Given the description of an element on the screen output the (x, y) to click on. 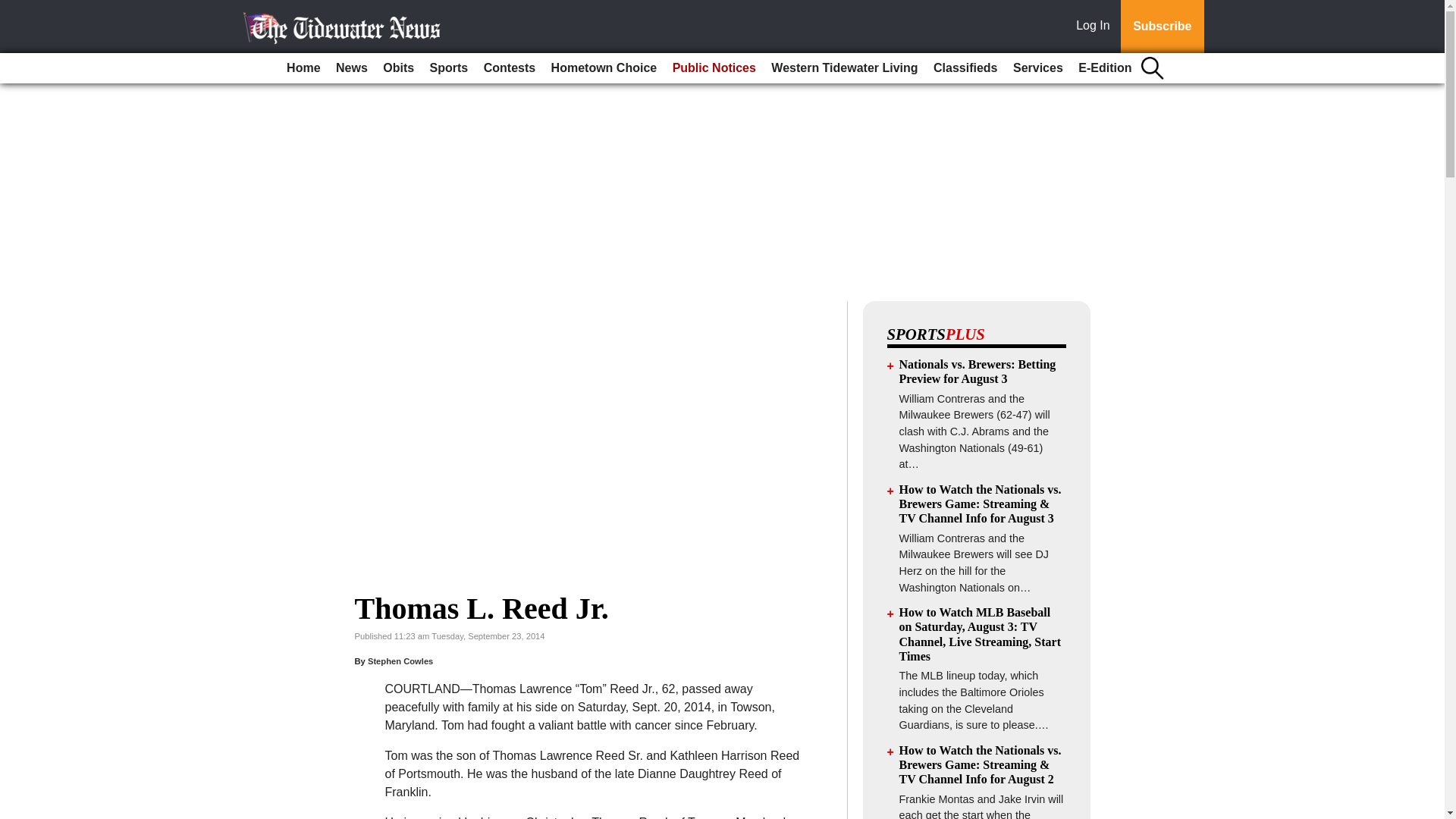
Western Tidewater Living (844, 68)
Services (1037, 68)
Sports (448, 68)
Contests (509, 68)
News (352, 68)
Go (13, 9)
Obits (398, 68)
Public Notices (713, 68)
E-Edition (1104, 68)
Hometown Choice (603, 68)
Stephen Cowles (400, 660)
Classifieds (965, 68)
Log In (1095, 26)
Subscribe (1162, 26)
Home (303, 68)
